Given the description of an element on the screen output the (x, y) to click on. 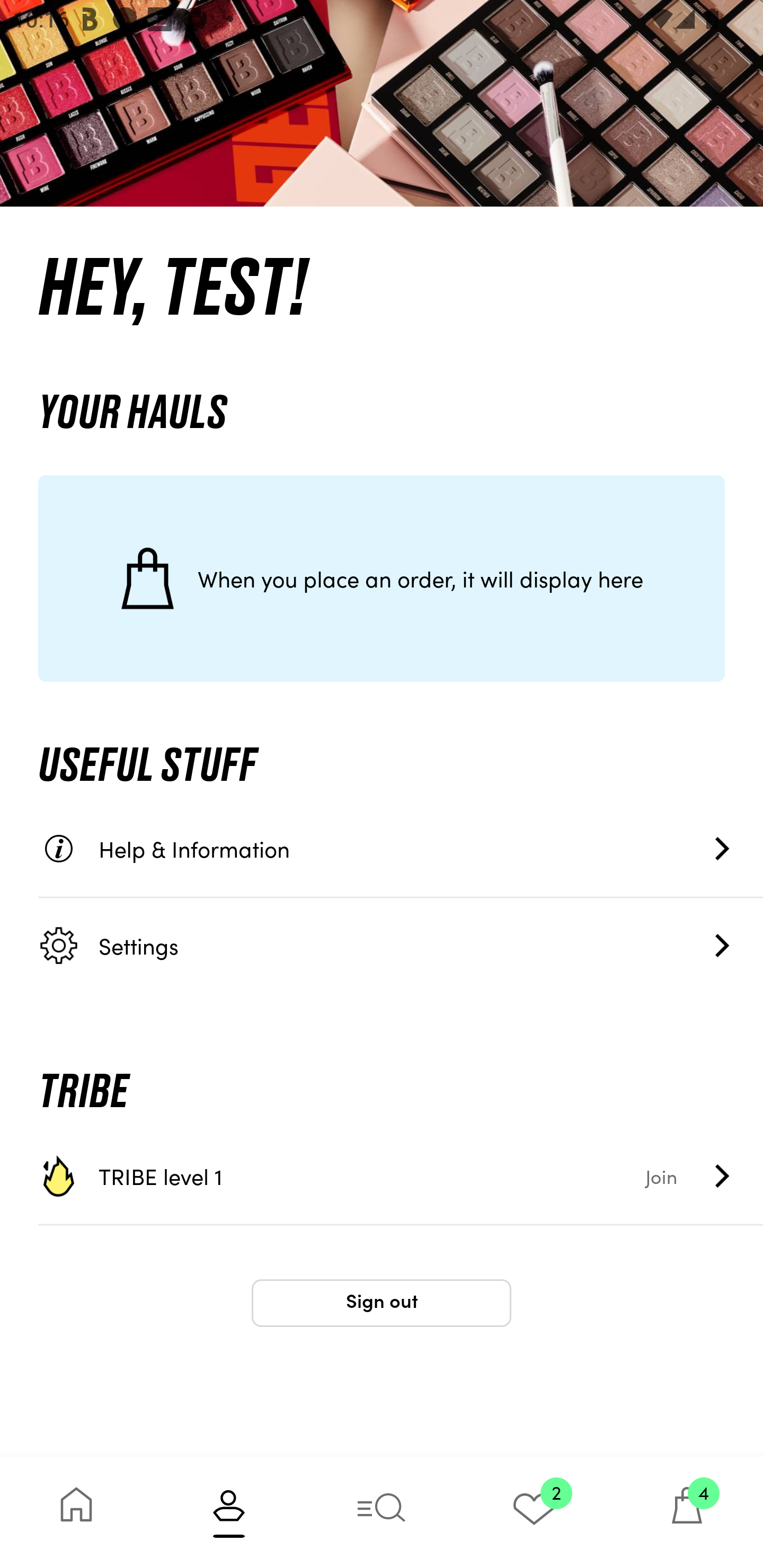
Help & Information (400, 848)
Settings (400, 945)
TRIBE level 1 Join (400, 1175)
Sign out (381, 1302)
2 (533, 1512)
4 (686, 1512)
